Given the description of an element on the screen output the (x, y) to click on. 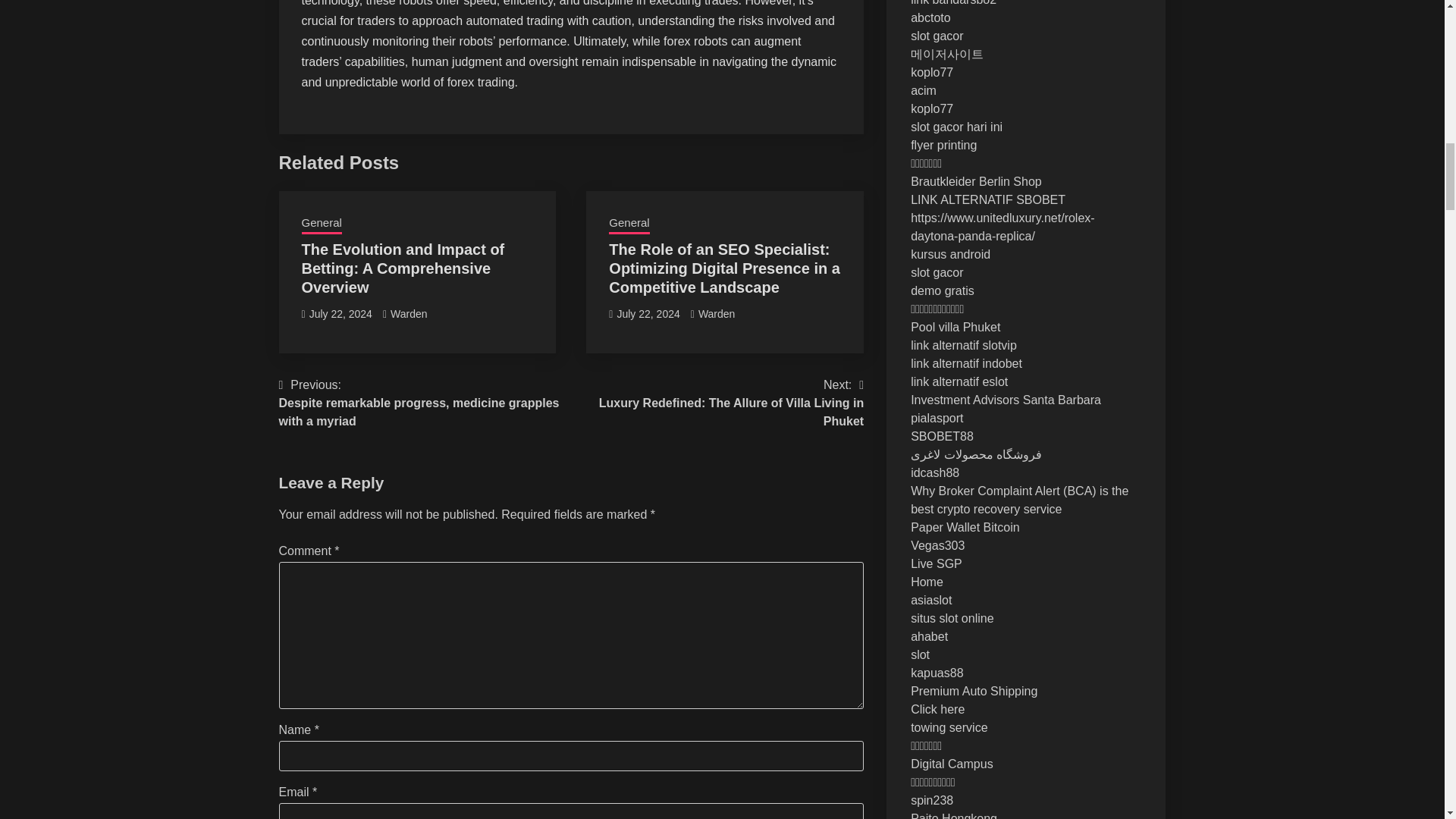
Warden (716, 313)
July 22, 2024 (647, 313)
General (321, 224)
General (716, 402)
Warden (628, 224)
July 22, 2024 (409, 313)
